Given the description of an element on the screen output the (x, y) to click on. 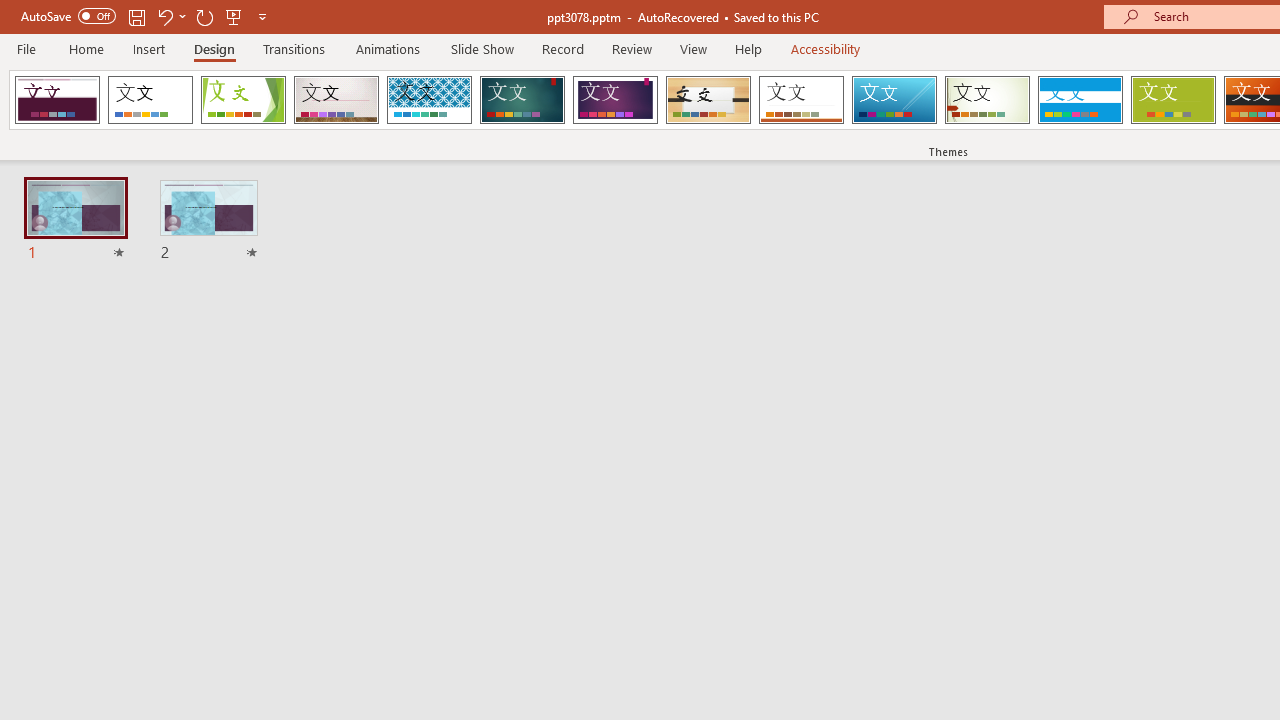
Wisp (987, 100)
